Given the description of an element on the screen output the (x, y) to click on. 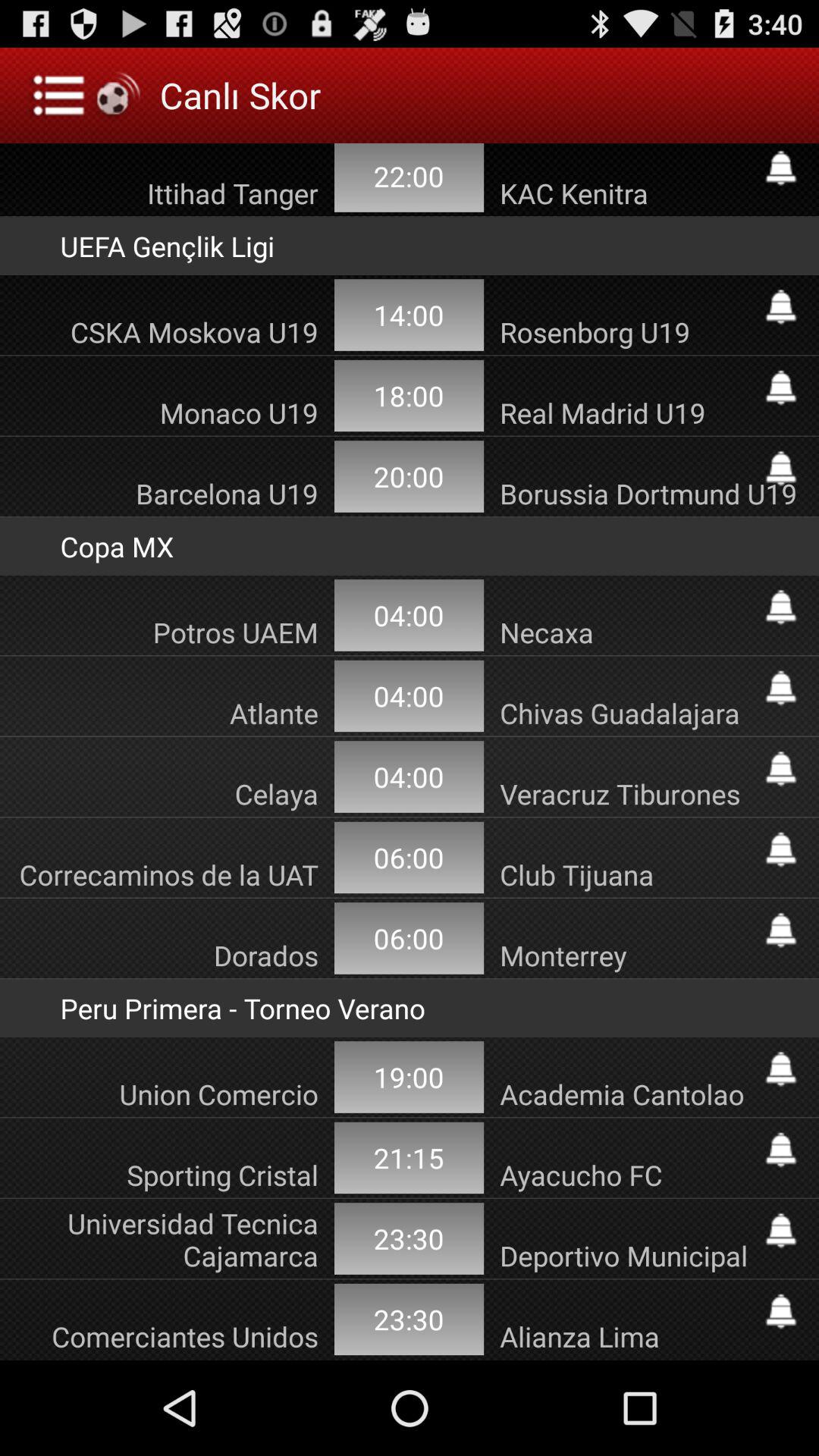
set an alert for the time of this game (780, 1069)
